Given the description of an element on the screen output the (x, y) to click on. 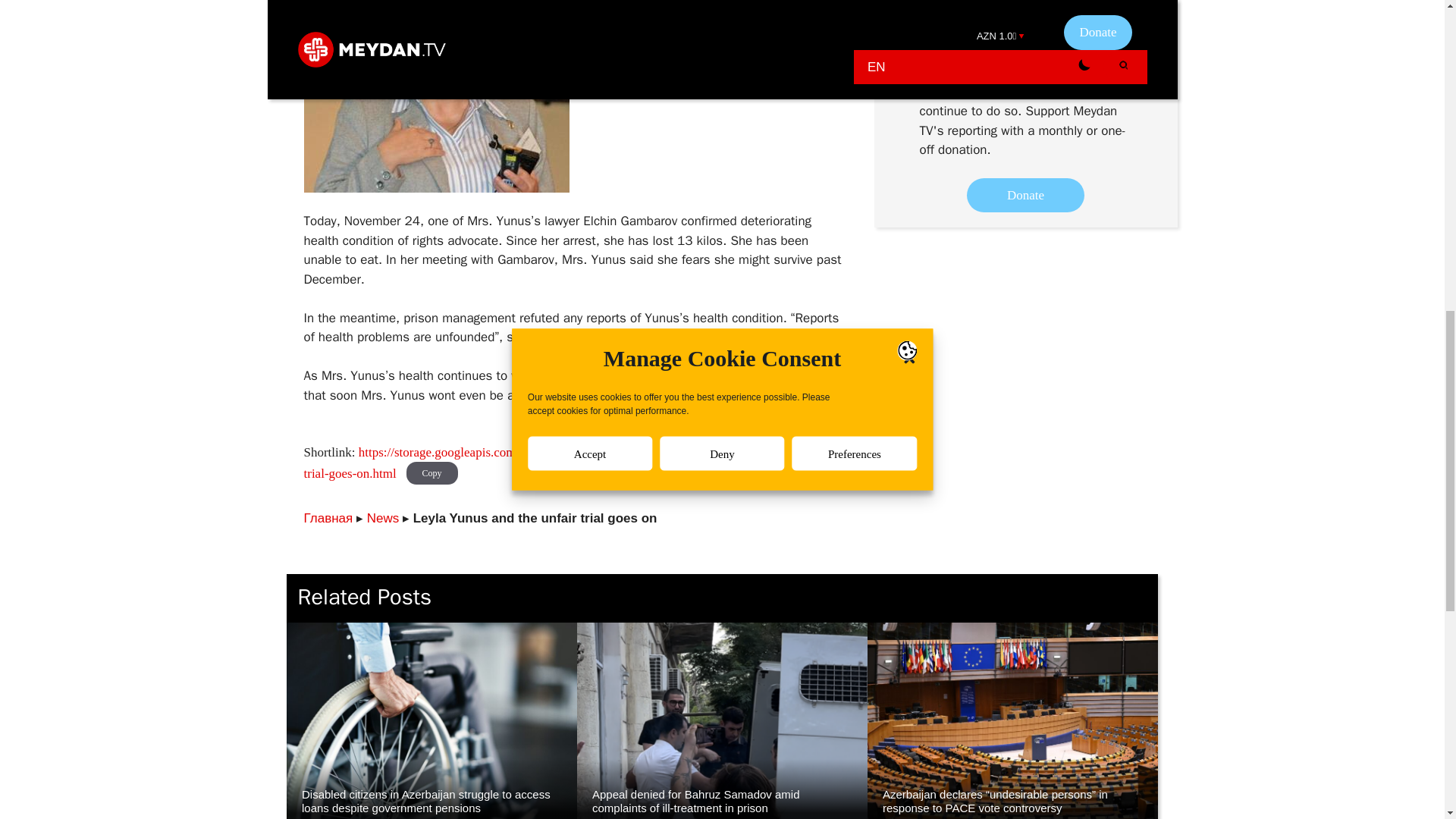
Scroll back to top (1406, 720)
